Given the description of an element on the screen output the (x, y) to click on. 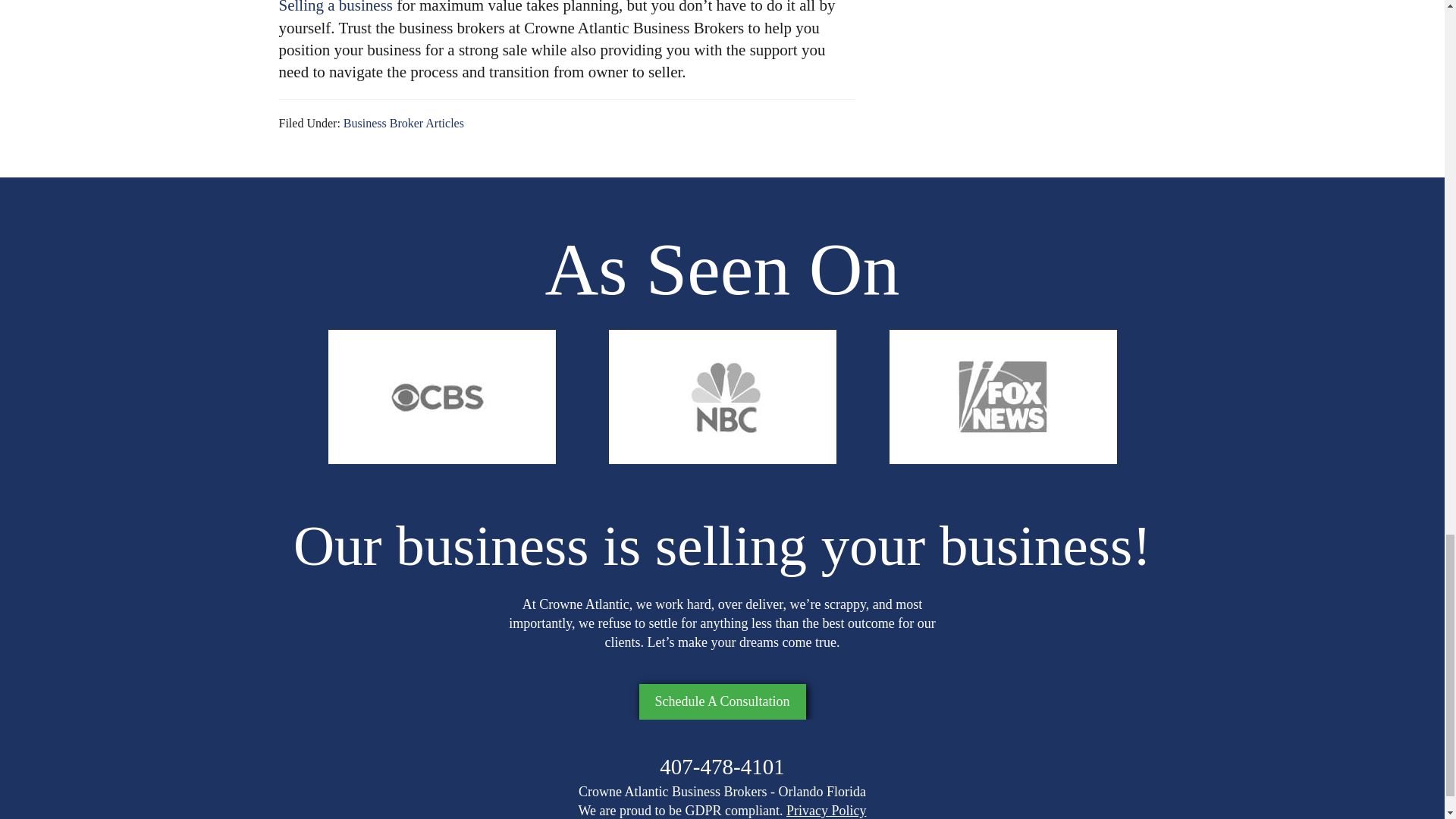
Selling a business (336, 7)
Business Broker Articles (403, 123)
